Given the description of an element on the screen output the (x, y) to click on. 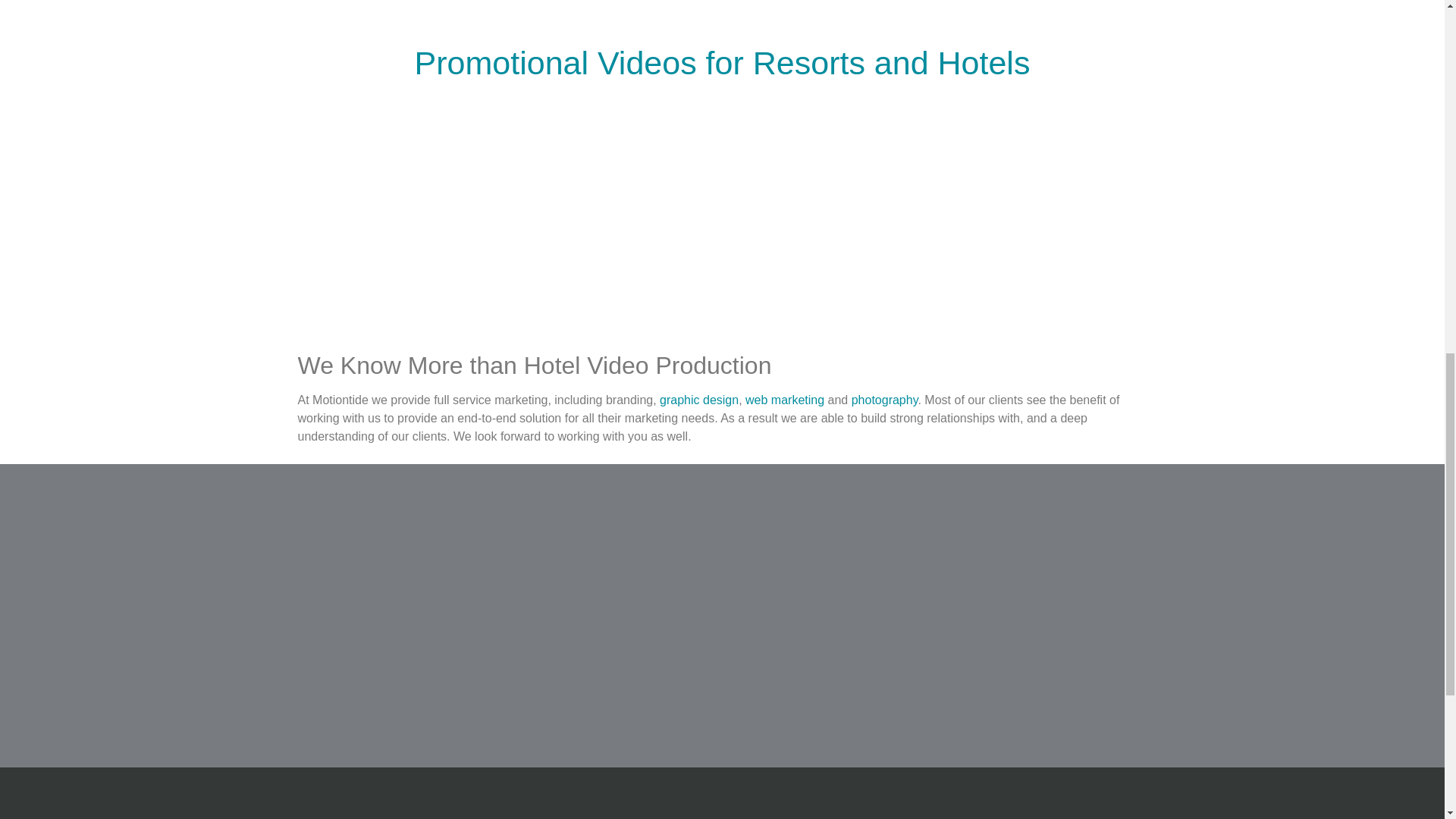
web marketing (784, 399)
graphic design (698, 399)
photography (884, 399)
